Given the description of an element on the screen output the (x, y) to click on. 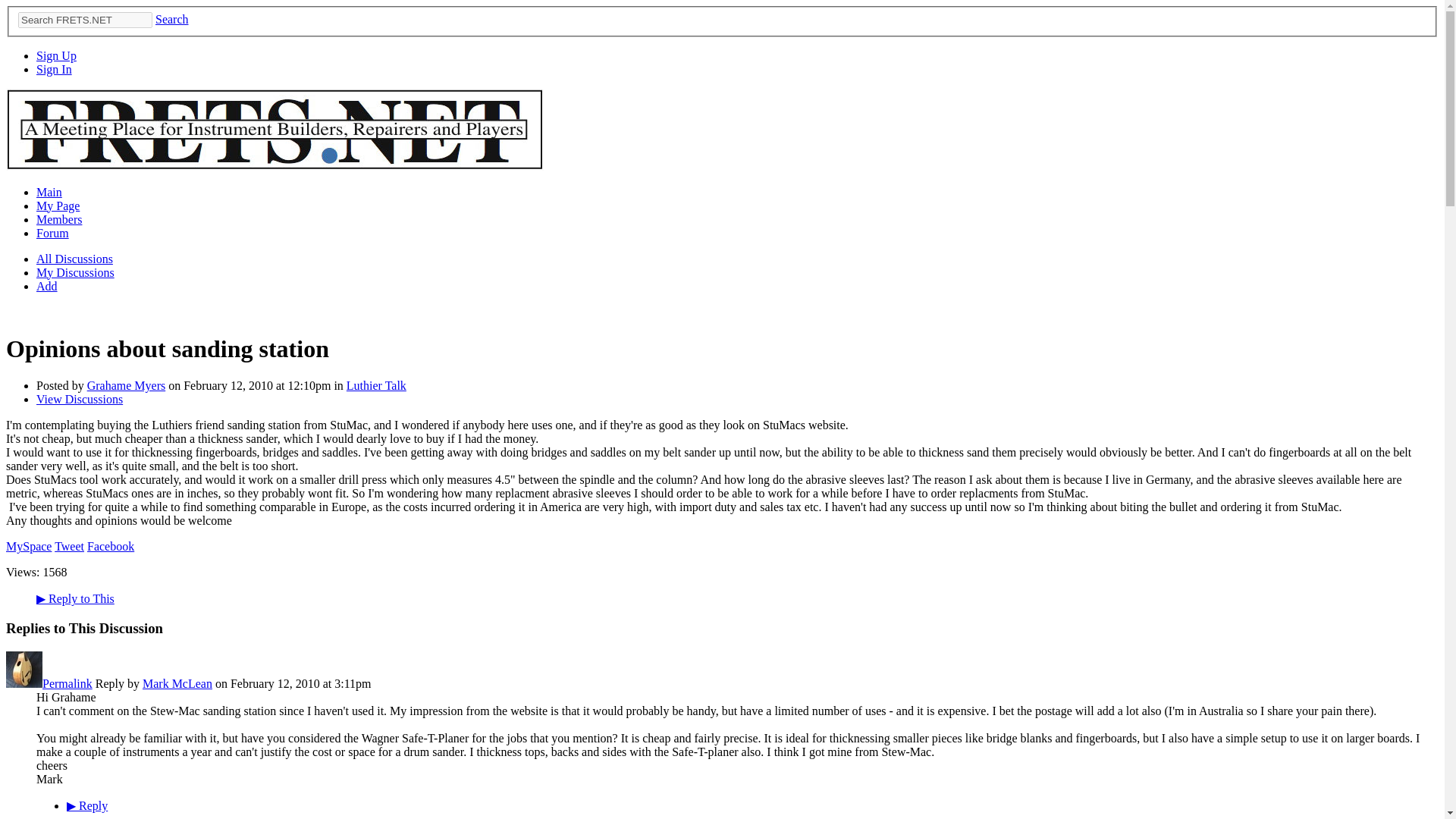
on February 12, 2010 at 12:10pm in (255, 385)
My Page (58, 205)
Permalink (67, 683)
Facebook (110, 545)
Search FRETS.NET (84, 19)
Forum (52, 232)
View Discussions (79, 399)
Search FRETS.NET (84, 19)
Grahame Myers (126, 385)
Permalink to this Reply (67, 683)
Luthier Talk (376, 385)
Main (49, 192)
Mark McLean (23, 683)
Members (58, 219)
Add (47, 286)
